Given the description of an element on the screen output the (x, y) to click on. 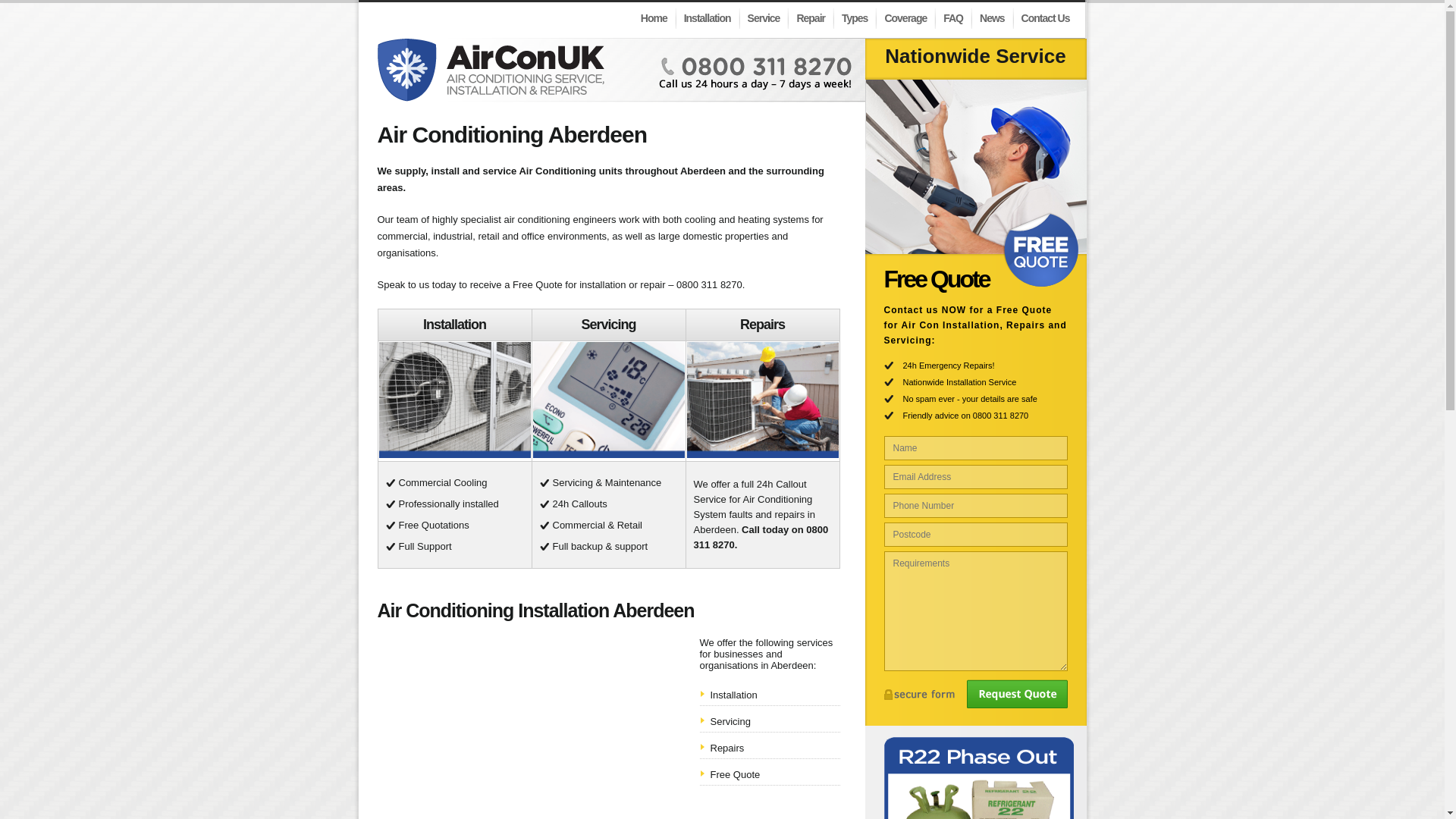
Free Quote (735, 774)
Repair (811, 17)
Home (655, 17)
Installation (733, 695)
News (992, 17)
Installation (708, 17)
Servicing (729, 721)
Repairs (727, 747)
Contact Us (1045, 17)
FAQ (954, 17)
